Given the description of an element on the screen output the (x, y) to click on. 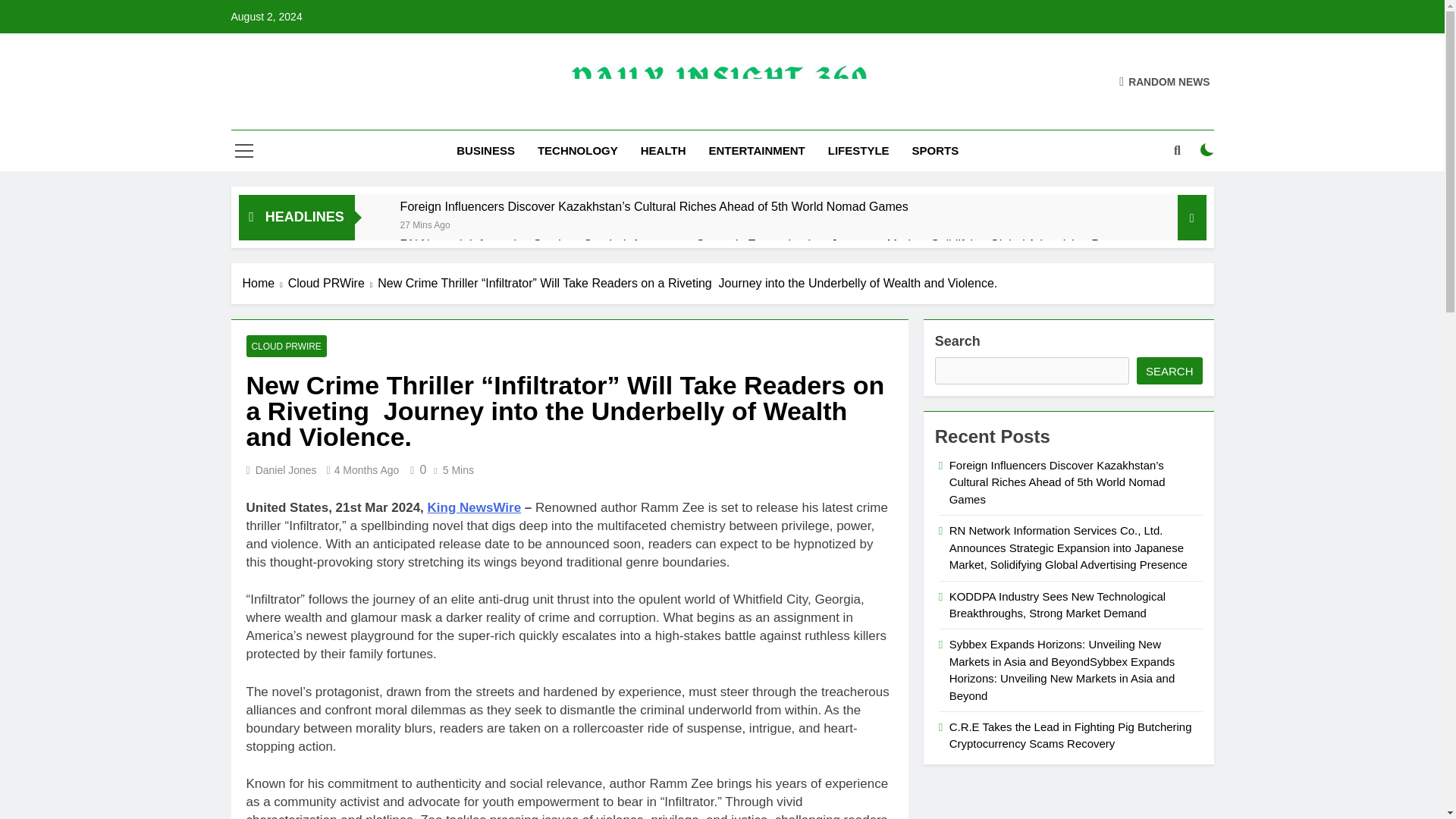
BUSINESS (485, 150)
4 Months Ago (366, 469)
RANDOM NEWS (1164, 80)
Cloud PRWire (333, 283)
TECHNOLOGY (576, 150)
HEALTH (662, 150)
Home (265, 283)
0 (415, 469)
SPORTS (936, 150)
on (1206, 150)
King NewsWire (474, 507)
CLOUD PRWIRE (286, 345)
27 Mins Ago (424, 223)
ENTERTAINMENT (756, 150)
